Given the description of an element on the screen output the (x, y) to click on. 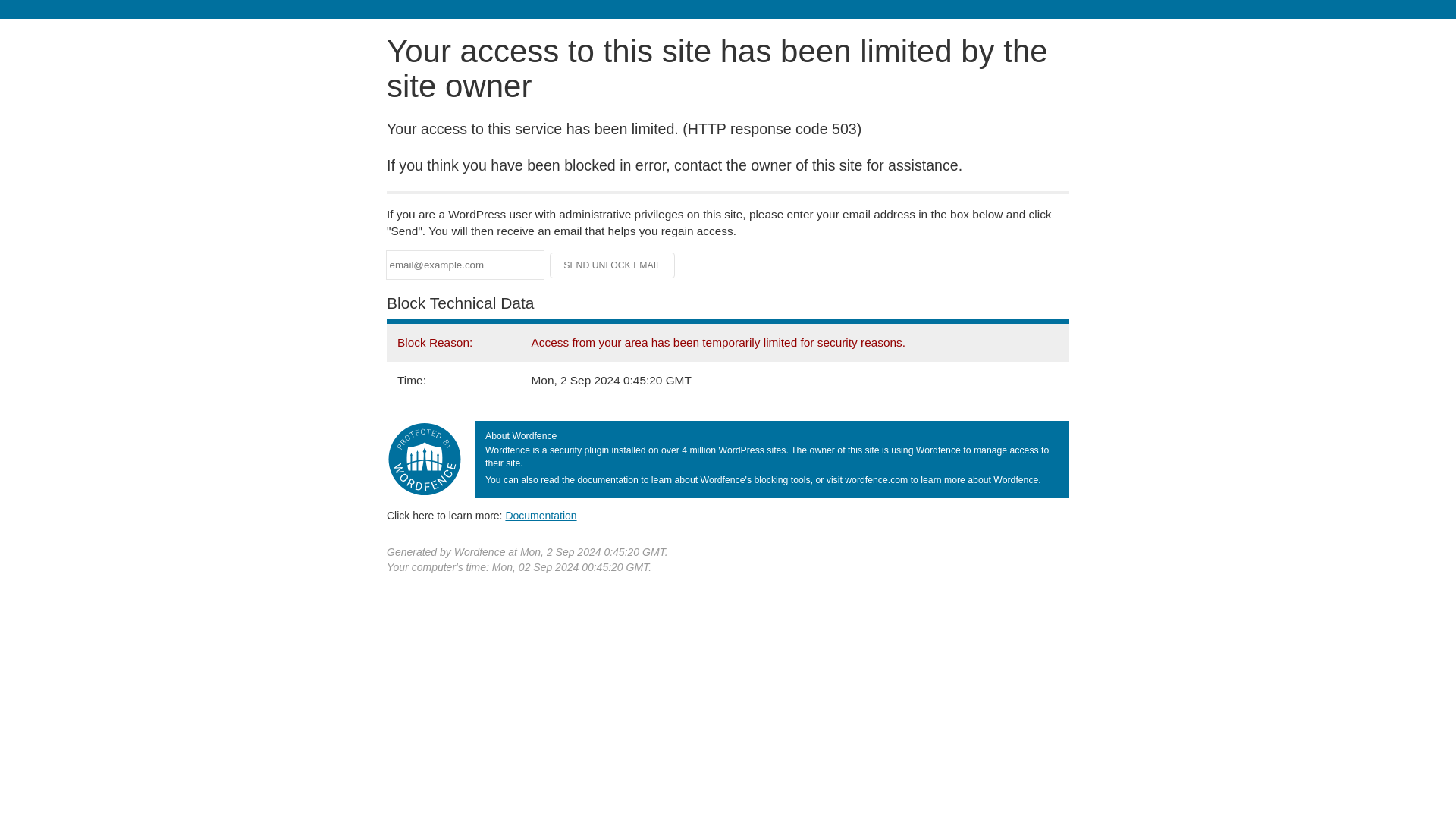
Send Unlock Email (612, 265)
Send Unlock Email (612, 265)
Documentation (540, 515)
